Given the description of an element on the screen output the (x, y) to click on. 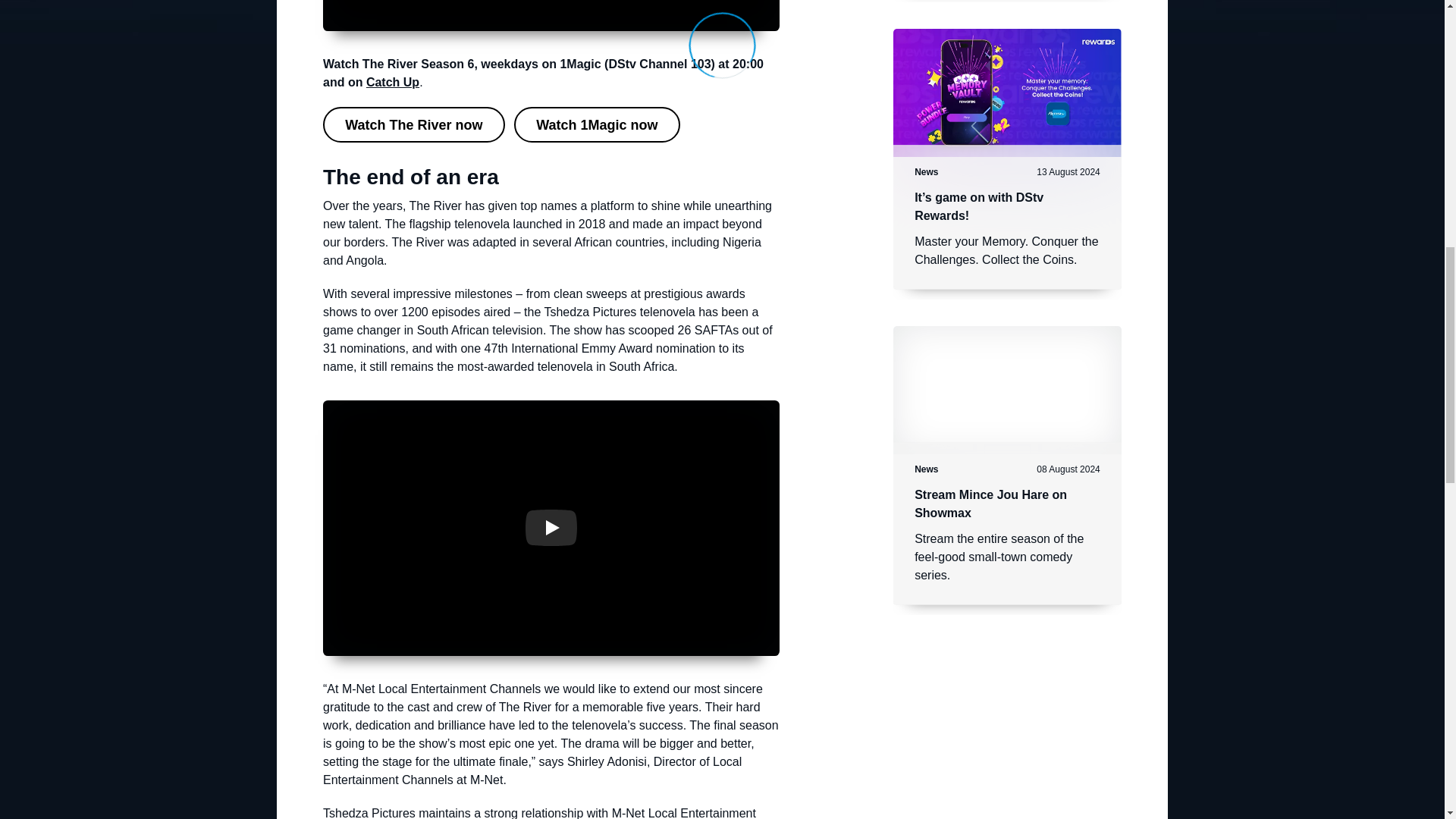
Catch Up (392, 82)
Watch The River now (414, 124)
Watch 1Magic now (596, 124)
